Given the description of an element on the screen output the (x, y) to click on. 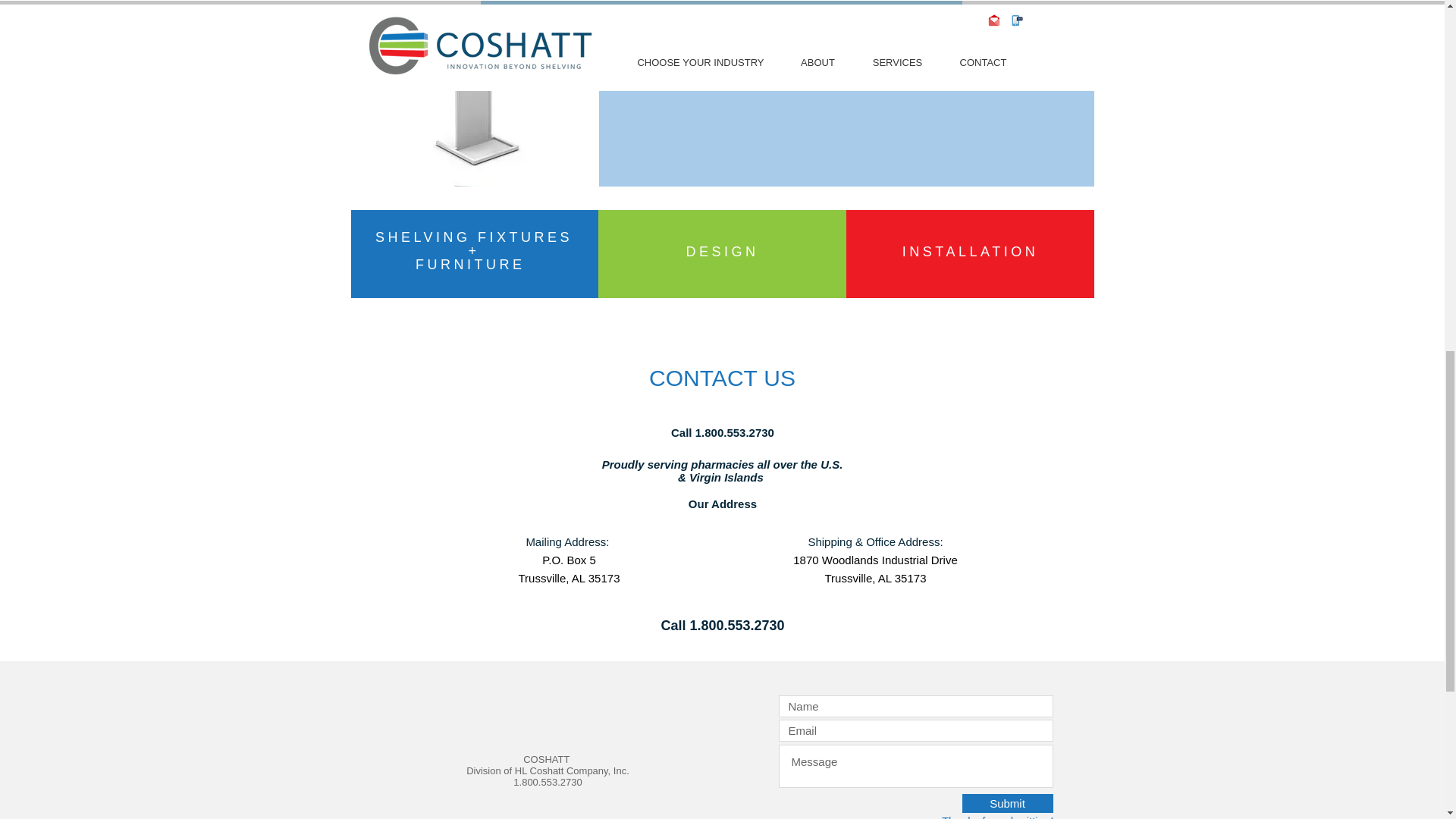
Call 1.800.553.2730 (722, 431)
Submit (1006, 803)
CONTACT US (721, 377)
Call 1.800.553.2730 (722, 625)
